Given the description of an element on the screen output the (x, y) to click on. 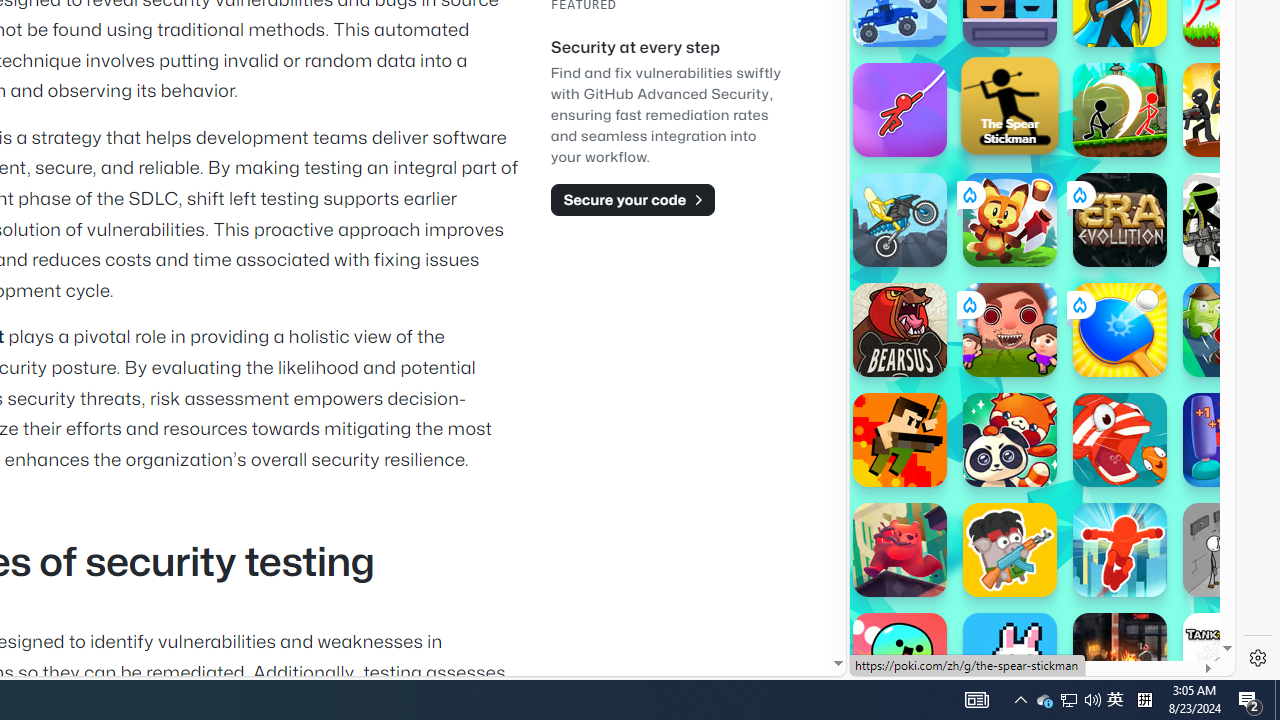
Crazy Cars (1217, 290)
Era: Evolution Era: Evolution (1119, 219)
Tank Trouble (1229, 659)
Stick Defenders Stick Defenders (1229, 109)
Stick Defenders (1229, 109)
Fleeing the Complex (1229, 549)
SUBWAY SURFERS - Play Online for Free! | Poki (1034, 624)
Hills of Steel (943, 200)
Eat the world (1009, 329)
Punch Legend Simulator (1229, 439)
Poor Bunny Poor Bunny (1009, 659)
Combat Reloaded Combat Reloaded poki.com (1092, 245)
Class: rCs5cyEiqiTpYvt_VBCR (1079, 304)
Era: Evolution (1119, 219)
Blumgi Slime Blumgi Slime (899, 659)
